Given the description of an element on the screen output the (x, y) to click on. 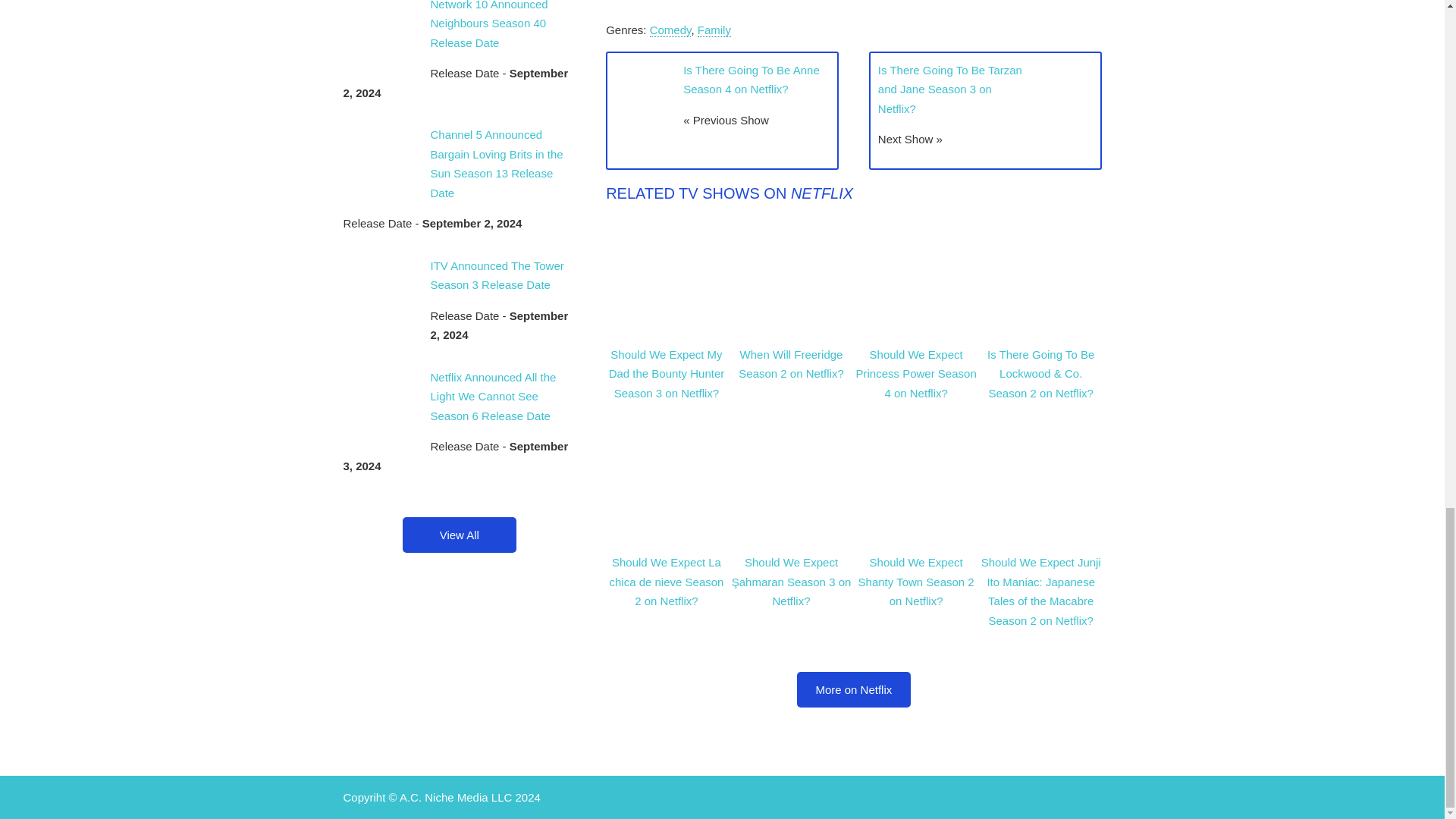
When Will Freeridge Season 2 on Netflix? (790, 364)
Should We Expect La chica de nieve Season 2 on Netflix? (665, 581)
Is There Going To Be Anne Season 4 on Netflix? (750, 79)
Should We Expect Princess Power Season 4 on Netflix? (915, 373)
Family (713, 29)
Should We Expect Shanty Town Season 2 on Netflix? (916, 581)
Comedy (670, 29)
Is There Going To Be Tarzan and Jane Season 3 on Netflix? (949, 89)
